Given the description of an element on the screen output the (x, y) to click on. 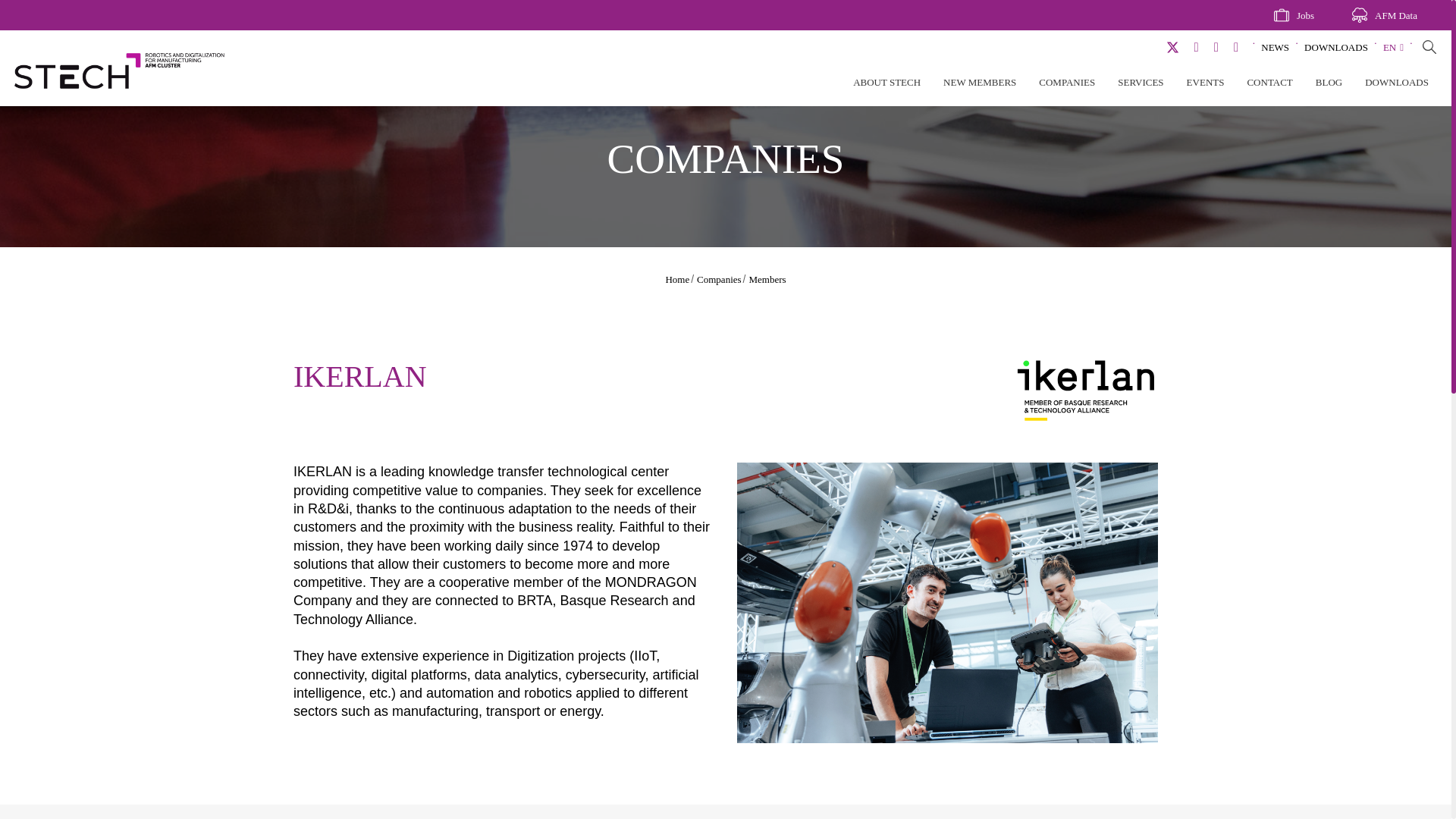
NEW MEMBERS (979, 84)
CONTACT (1269, 84)
EN (1393, 47)
SERVICES (1140, 84)
EVENTS (1205, 84)
ABOUT STECH (886, 84)
Companies (719, 278)
COMPANIES (1066, 84)
DOWNLOADS (1336, 46)
BLOG (1329, 84)
Home (676, 278)
DOWNLOADS (1396, 84)
